Given the description of an element on the screen output the (x, y) to click on. 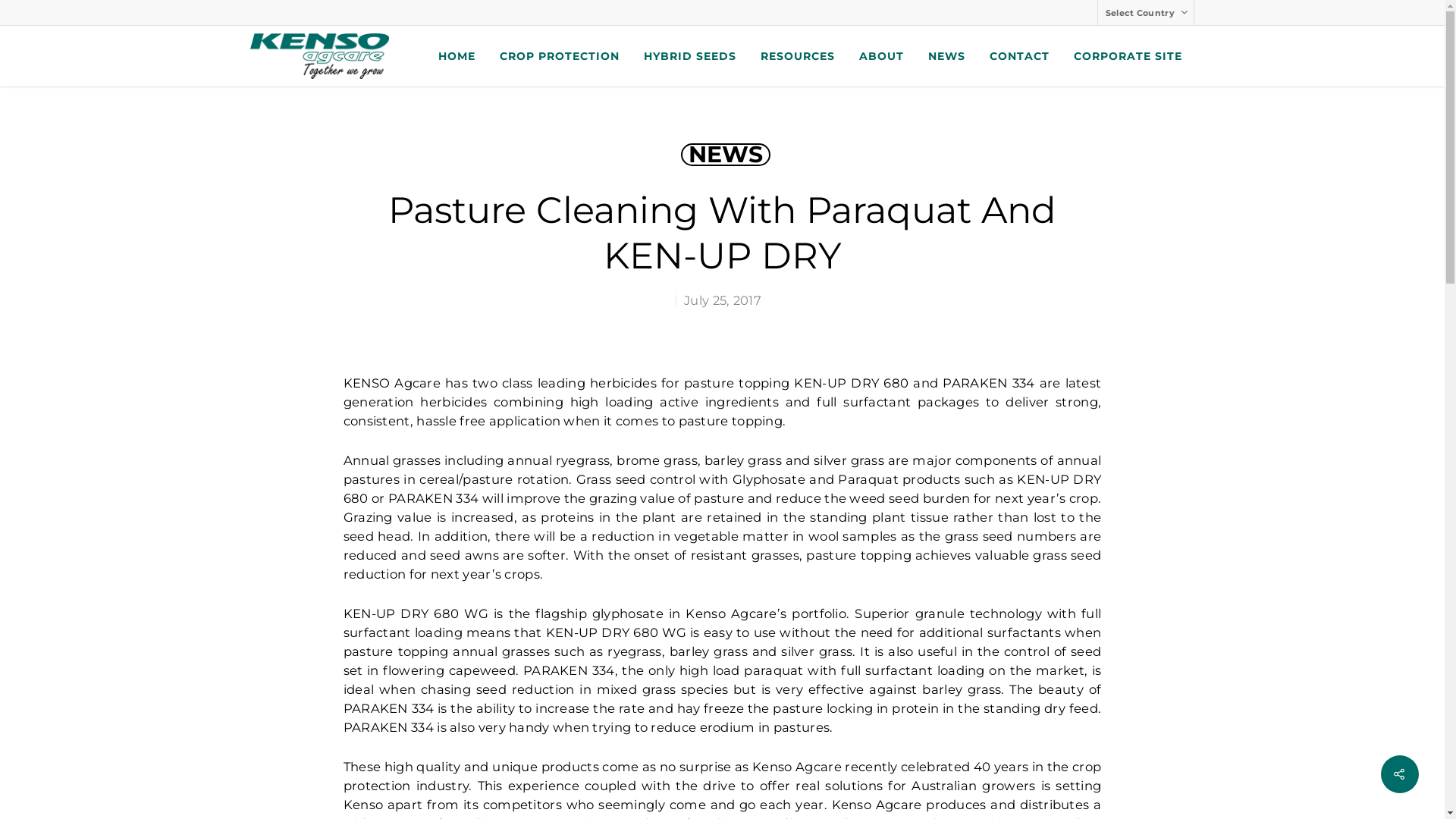
CONTACT Element type: text (1019, 55)
CORPORATE SITE Element type: text (1127, 55)
RESOURCES Element type: text (797, 55)
HOME Element type: text (456, 55)
NEWS Element type: text (725, 154)
CROP PROTECTION Element type: text (559, 55)
ABOUT Element type: text (881, 55)
Select Country Element type: text (1145, 12)
NEWS Element type: text (946, 55)
HYBRID SEEDS Element type: text (689, 55)
